Given the description of an element on the screen output the (x, y) to click on. 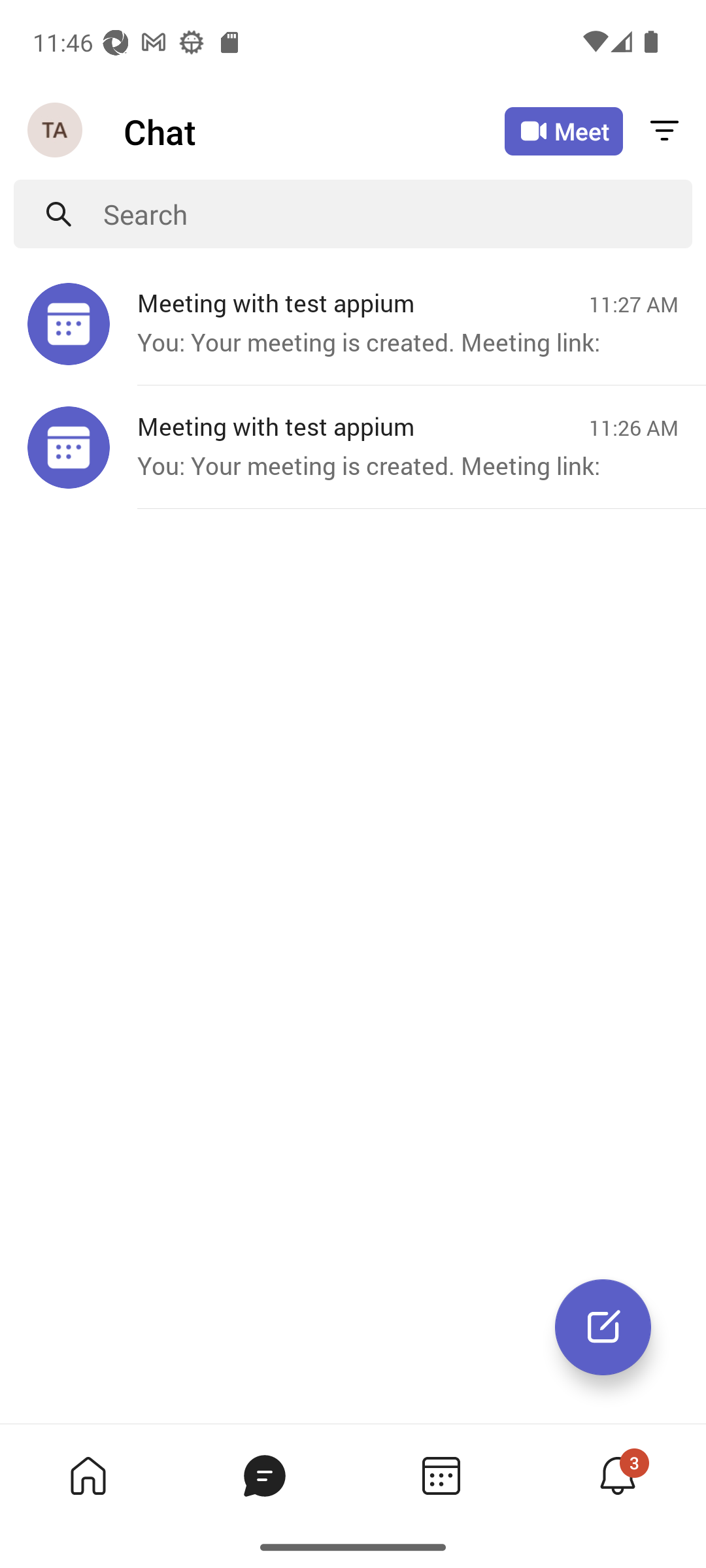
Filter chat messages (664, 131)
Navigation (56, 130)
Meet Meet now or join with an ID (563, 130)
Search (397, 213)
New chat (602, 1327)
Home tab,1 of 4, not selected (88, 1475)
Chat tab, 2 of 4 (264, 1475)
Calendar tab,3 of 4, not selected (441, 1475)
Activity tab,4 of 4, not selected, 3 new 3 (617, 1475)
